Given the description of an element on the screen output the (x, y) to click on. 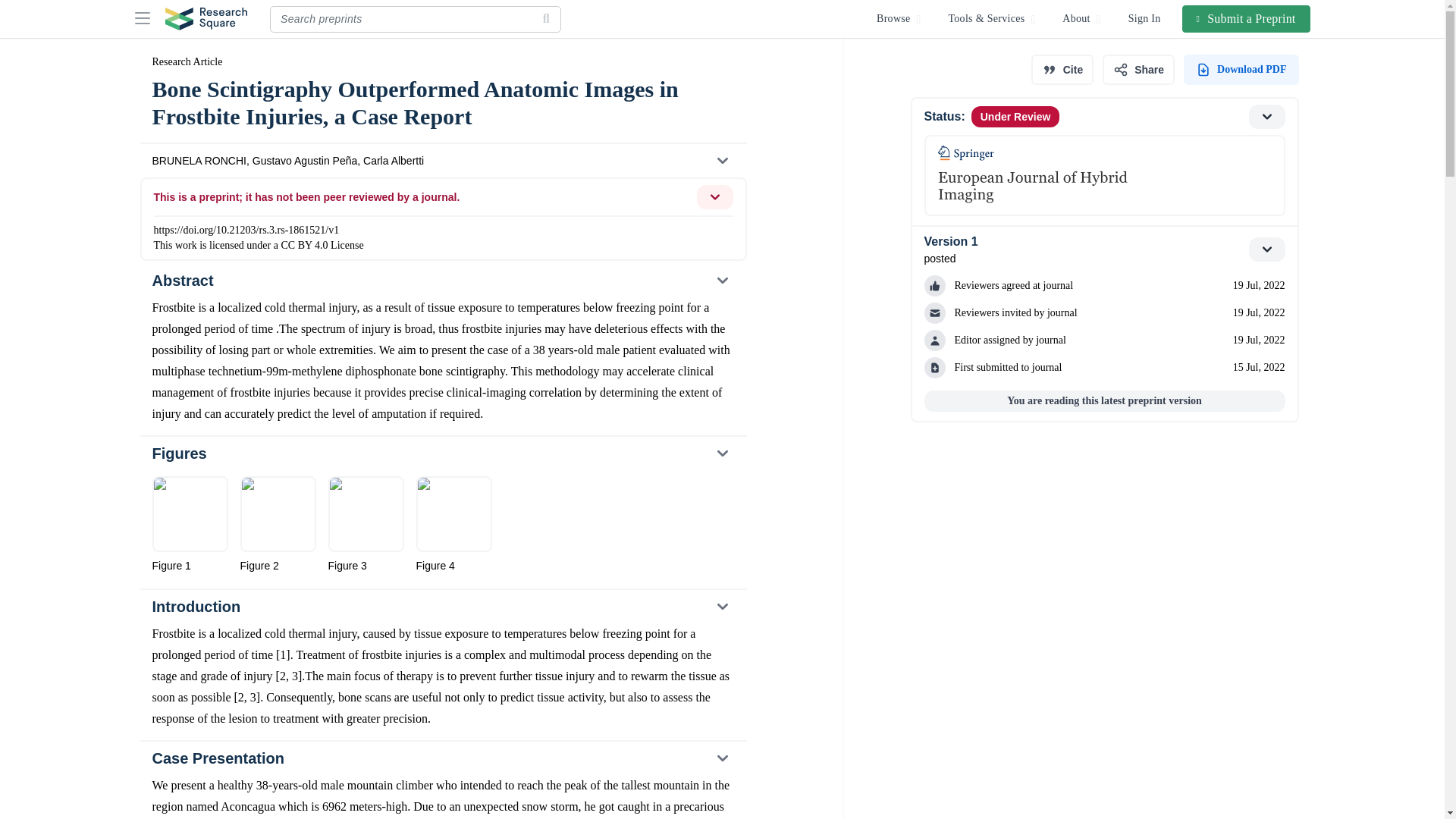
Abstract (442, 280)
Submit a Preprint (1246, 18)
Figures (442, 453)
Case Presentation (442, 758)
Introduction (442, 606)
Sign In (1144, 18)
